Given the description of an element on the screen output the (x, y) to click on. 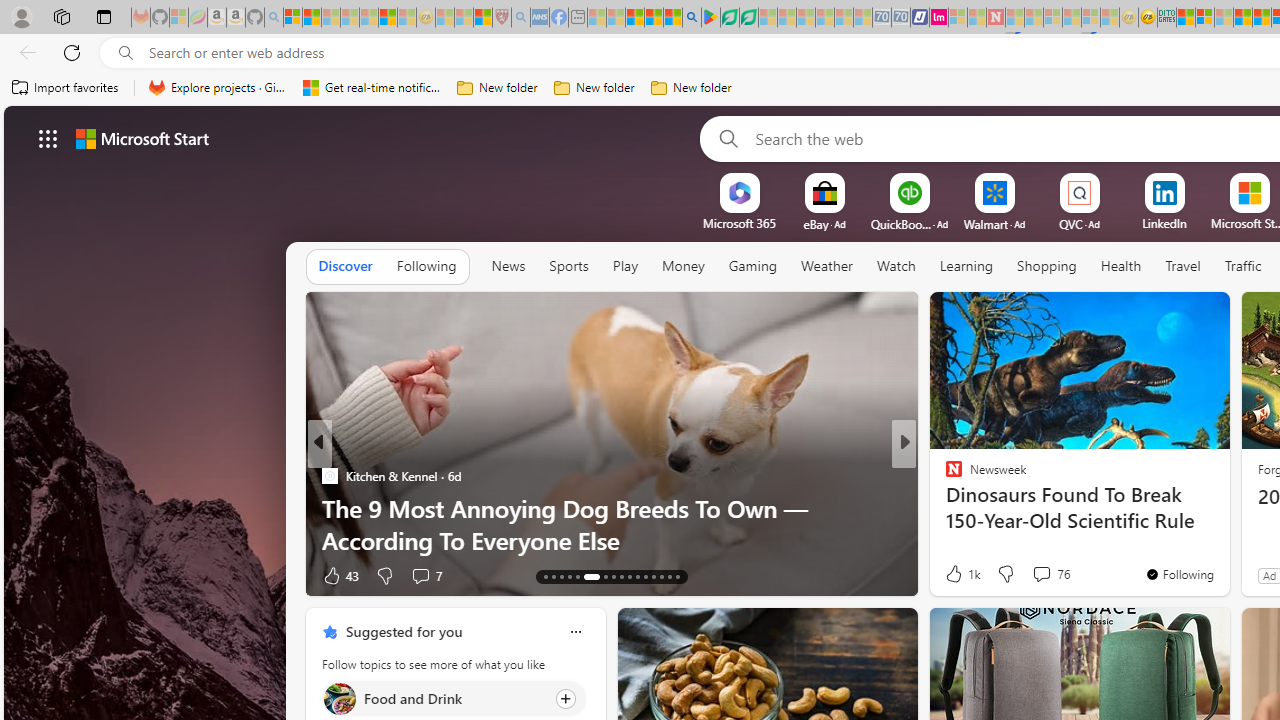
AutomationID: tab-16 (568, 576)
Import favorites (65, 88)
AutomationID: tab-21 (620, 576)
You're following Newsweek (1179, 573)
Hide this story (1169, 315)
Suggested for you (404, 631)
Local - MSN (482, 17)
Dog Breed Pro (944, 475)
